Given the description of an element on the screen output the (x, y) to click on. 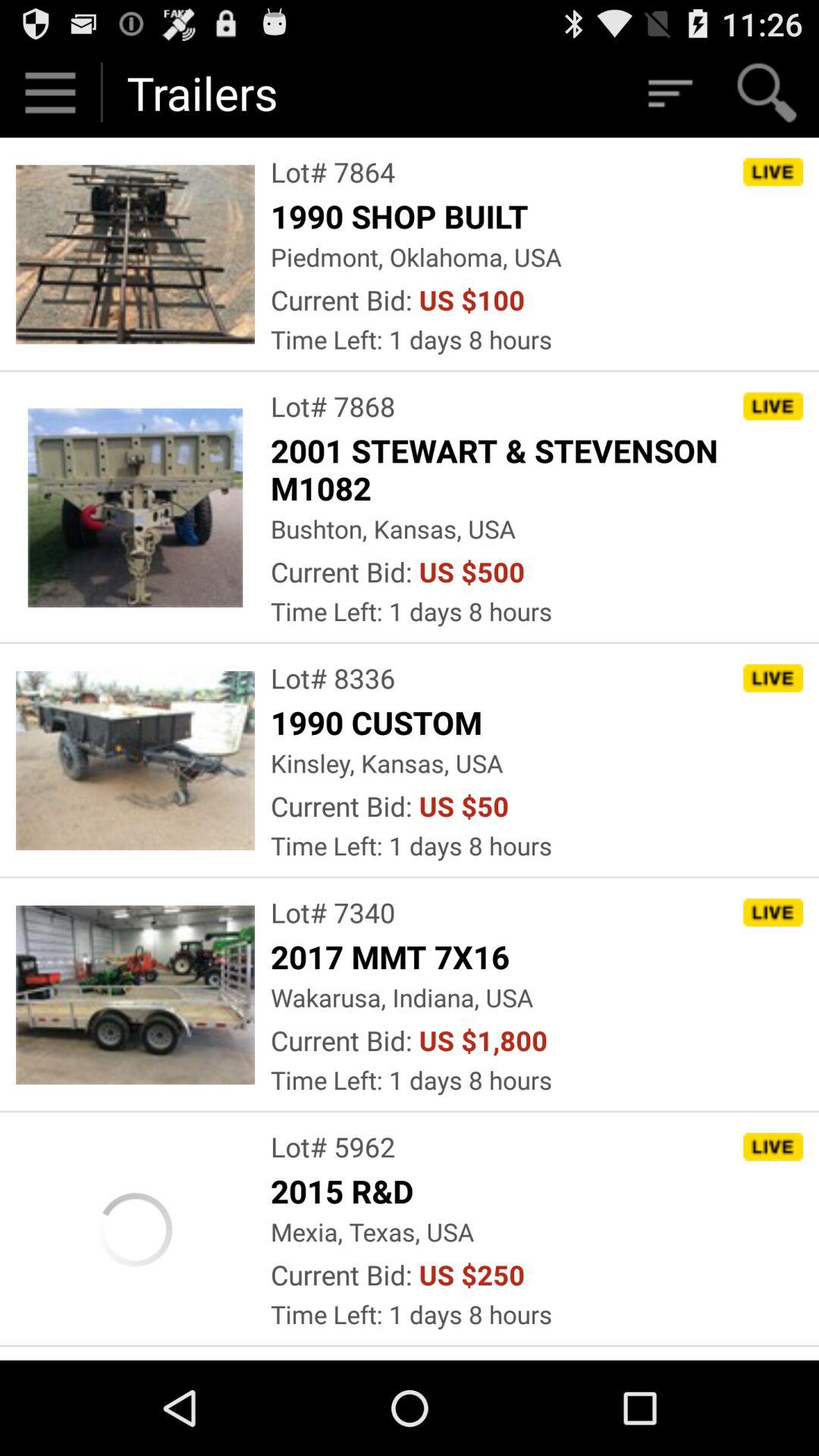
launch the icon below lot# 5962 item (345, 1190)
